Given the description of an element on the screen output the (x, y) to click on. 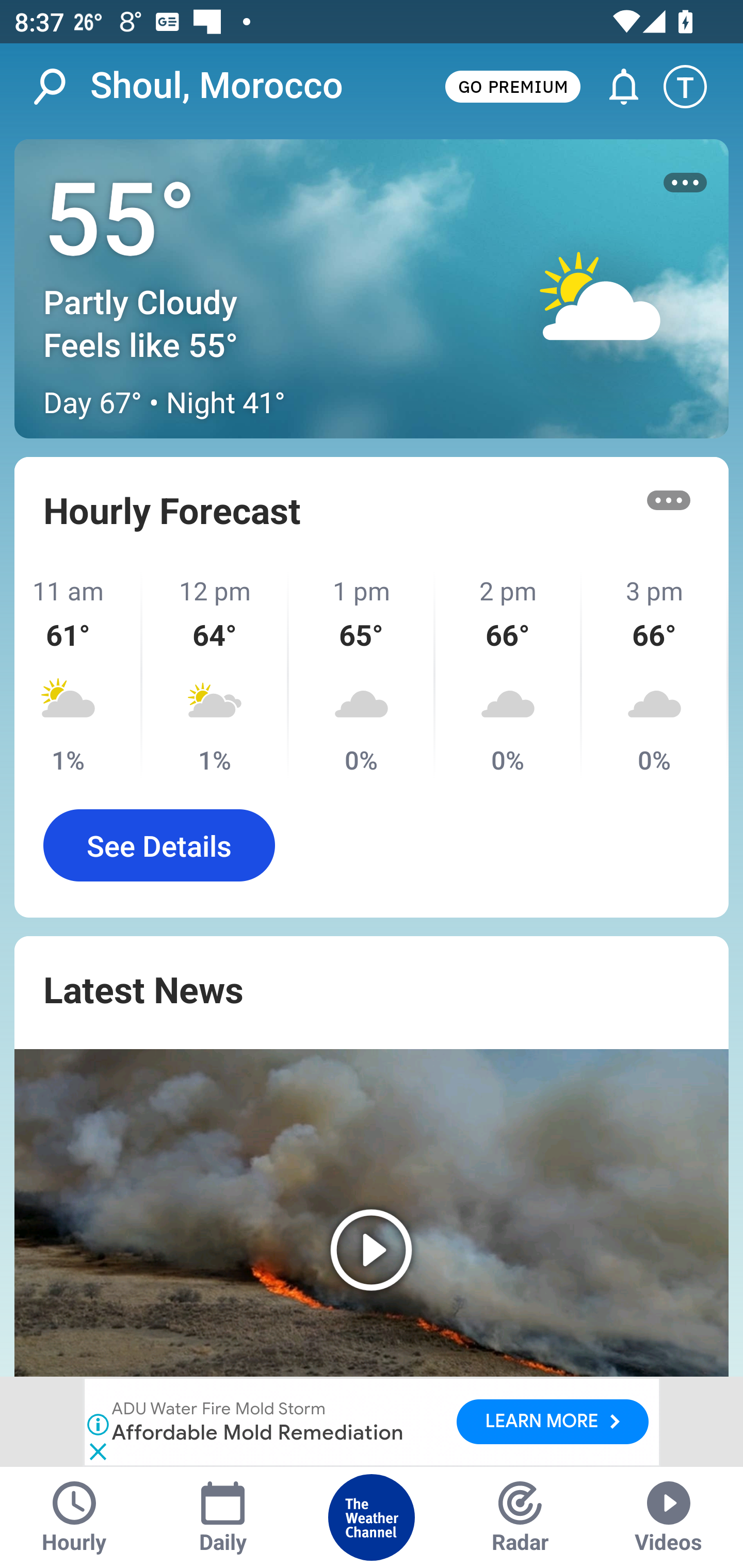
Search (59, 86)
Go to Alerts and Notifications (614, 86)
Setting icon T (694, 86)
Shoul, Morocco (216, 85)
GO PREMIUM (512, 85)
More options (684, 182)
More options (668, 500)
11 am 61° 1% (78, 674)
12 pm 64° 1% (215, 674)
1 pm 65° 0% (362, 674)
2 pm 66° 0% (508, 674)
3 pm 66° 0% (654, 674)
See Details (158, 845)
Play (371, 1212)
ADU Water Fire Mold Storm (218, 1410)
LEARN MORE (551, 1421)
Affordable Mold Remediation (258, 1432)
Hourly Tab Hourly (74, 1517)
Daily Tab Daily (222, 1517)
Radar Tab Radar (519, 1517)
Videos Tab Videos (668, 1517)
